Given the description of an element on the screen output the (x, y) to click on. 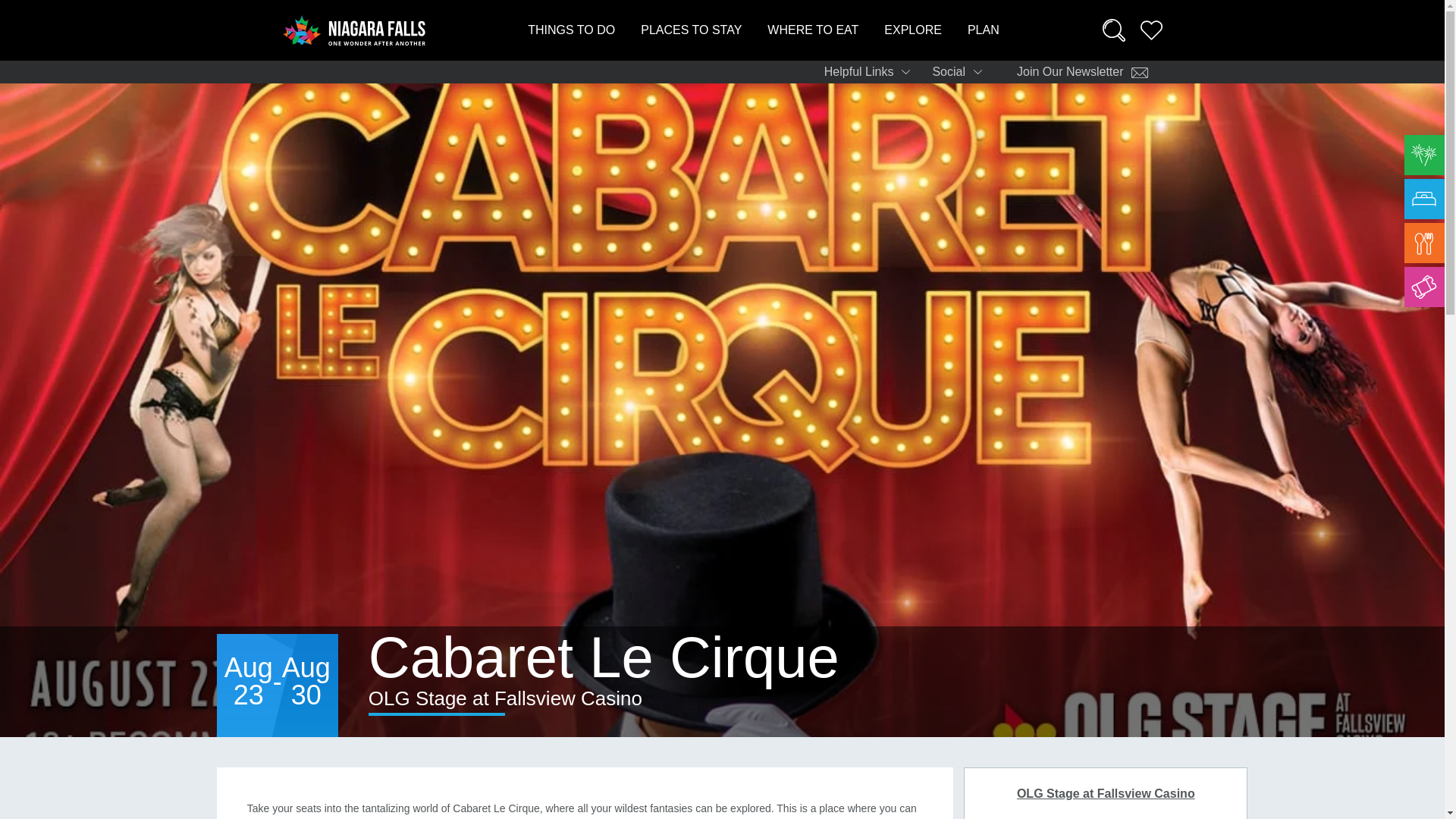
Search (1113, 29)
WHERE TO EAT (813, 29)
Join Our Newsletter (1083, 71)
PLAN (983, 29)
PLACES TO STAY (690, 29)
THINGS TO DO (570, 29)
EXPLORE (912, 29)
Social (961, 71)
Helpful Links (872, 71)
